Given the description of an element on the screen output the (x, y) to click on. 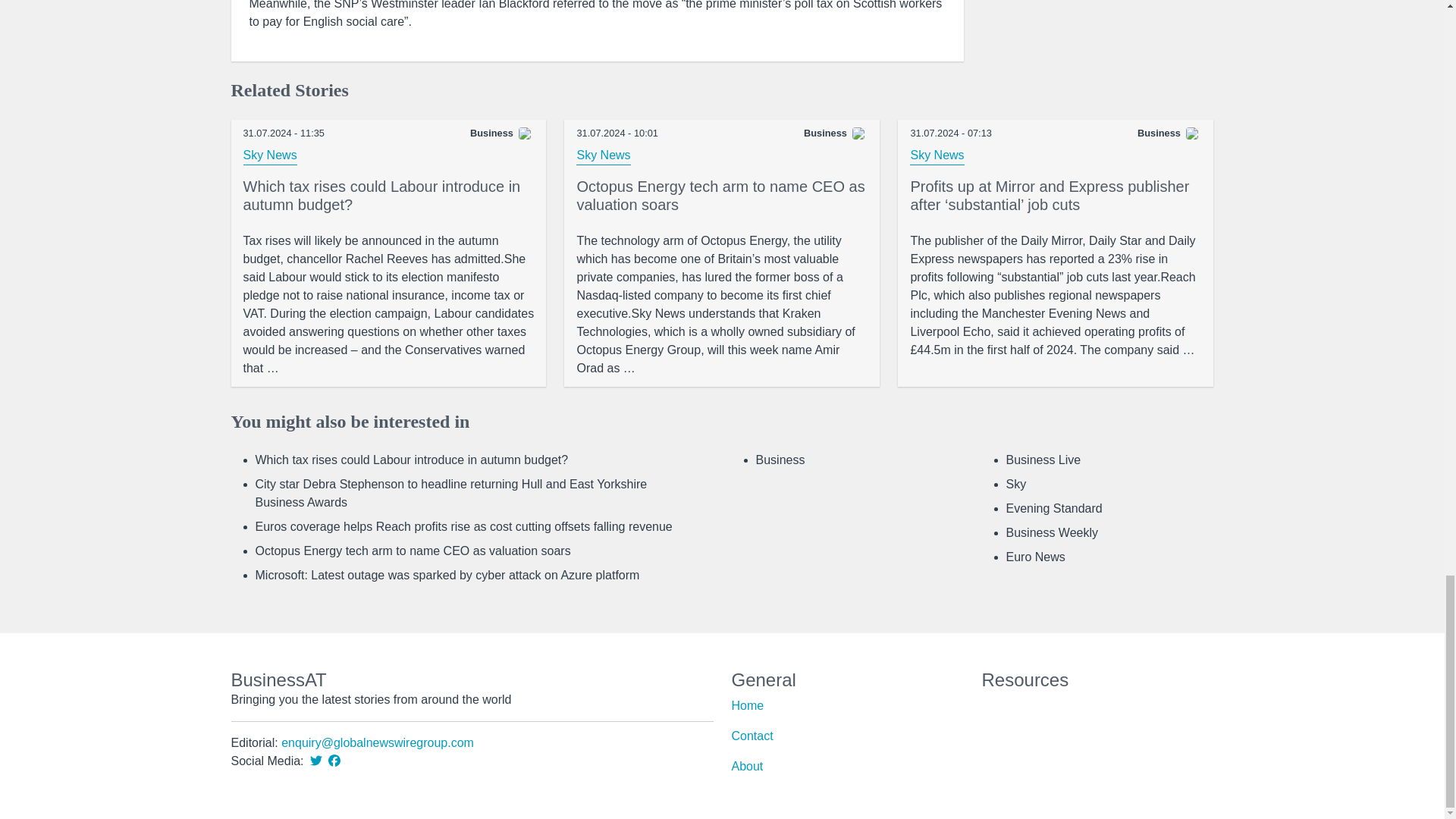
Octopus Energy tech arm to name CEO as valuation soars (721, 198)
Business Live (1043, 459)
Sky News (270, 155)
Euro News (1035, 556)
Business (780, 459)
Sky News (936, 155)
Which tax rises could Labour introduce in autumn budget? (388, 198)
Octopus Energy tech arm to name CEO as valuation soars (721, 198)
Which tax rises could Labour introduce in autumn budget? (410, 459)
Octopus Energy tech arm to name CEO as valuation soars (412, 550)
Octopus Energy tech arm to name CEO as valuation soars (721, 304)
Business Weekly (1051, 532)
Which tax rises could Labour introduce in autumn budget? (388, 304)
Evening Standard (1054, 508)
